Given the description of an element on the screen output the (x, y) to click on. 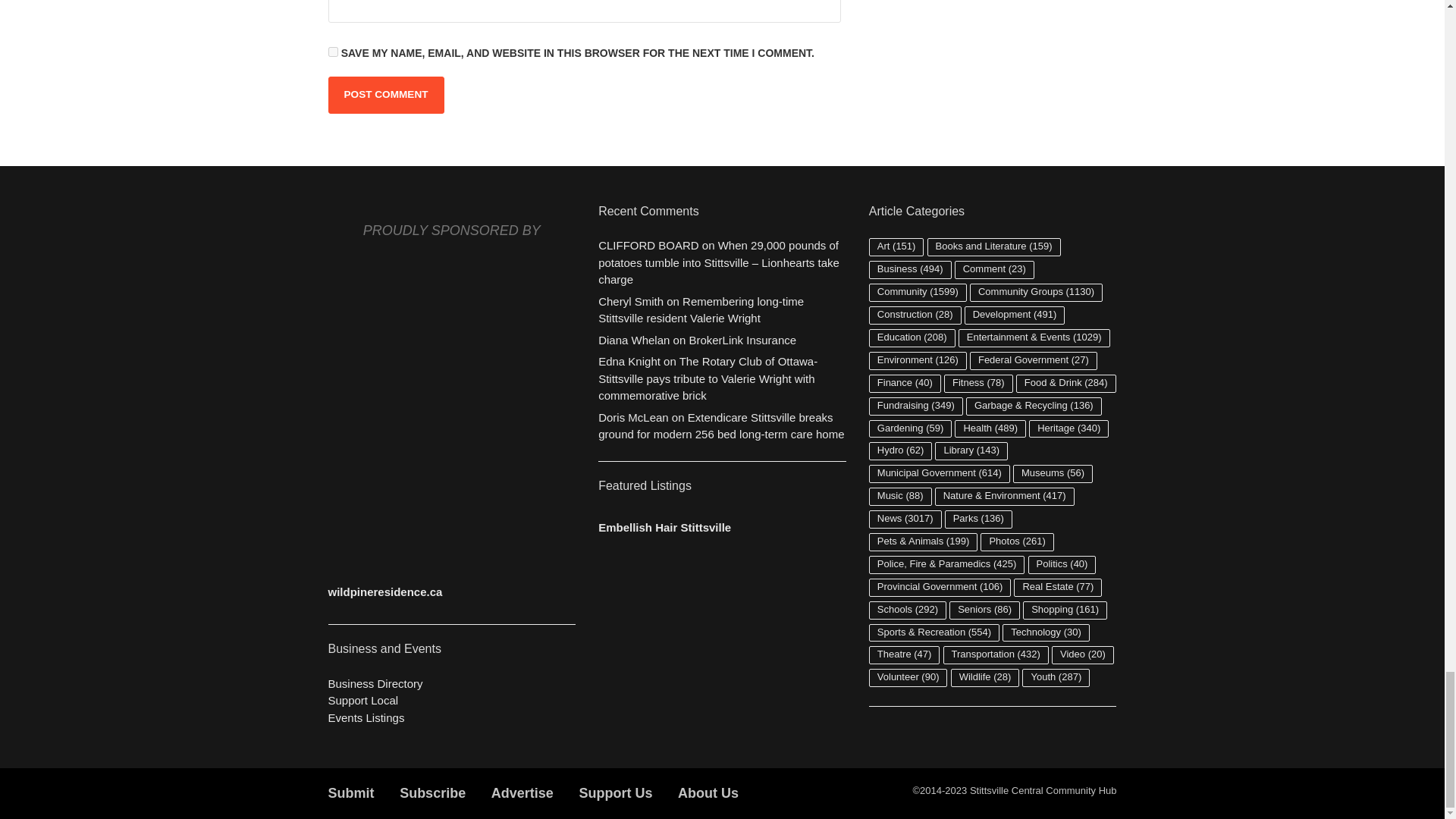
Post Comment (385, 94)
yes (332, 51)
